Given the description of an element on the screen output the (x, y) to click on. 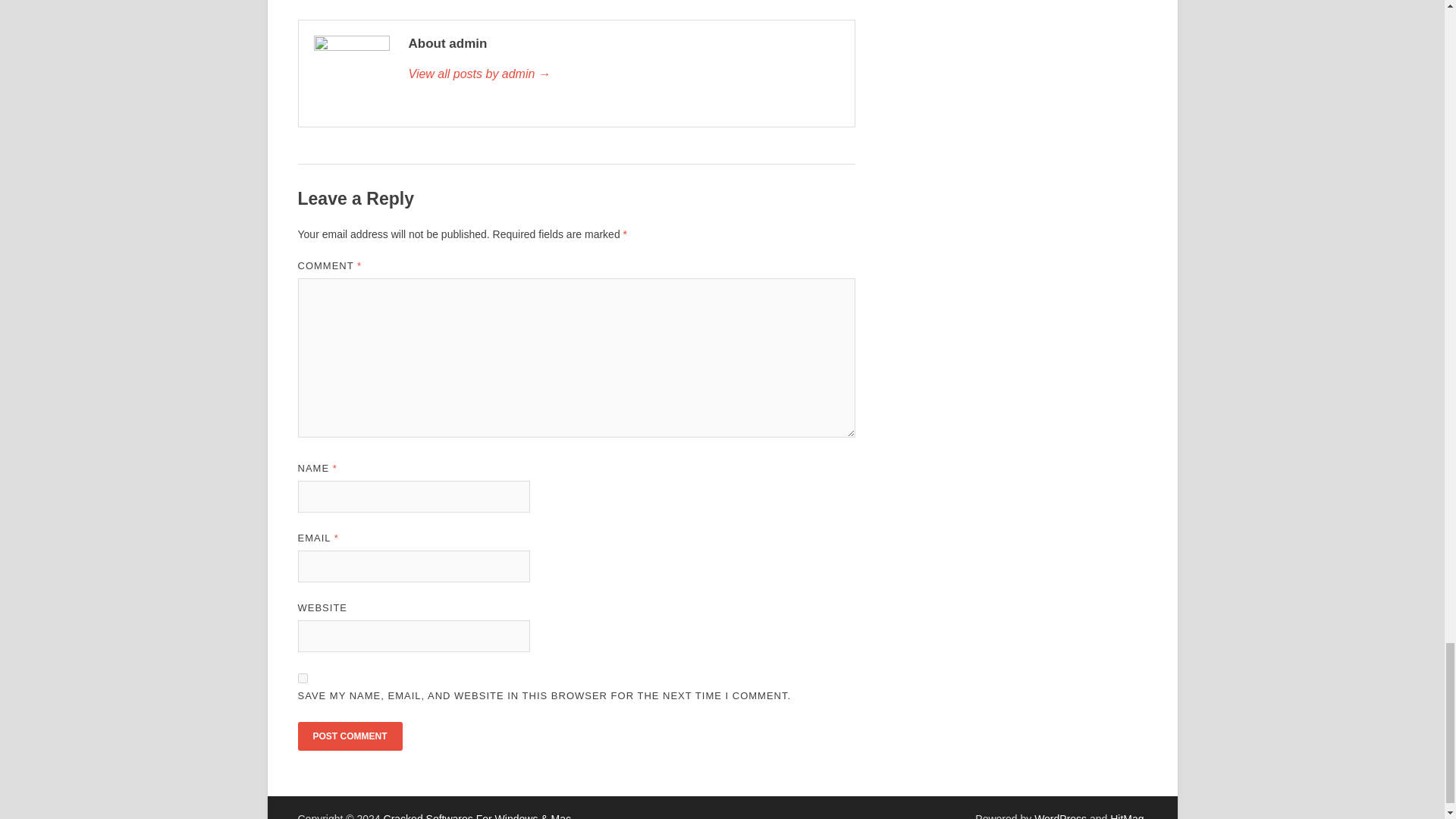
yes (302, 678)
admin (622, 74)
Post Comment (349, 736)
